Given the description of an element on the screen output the (x, y) to click on. 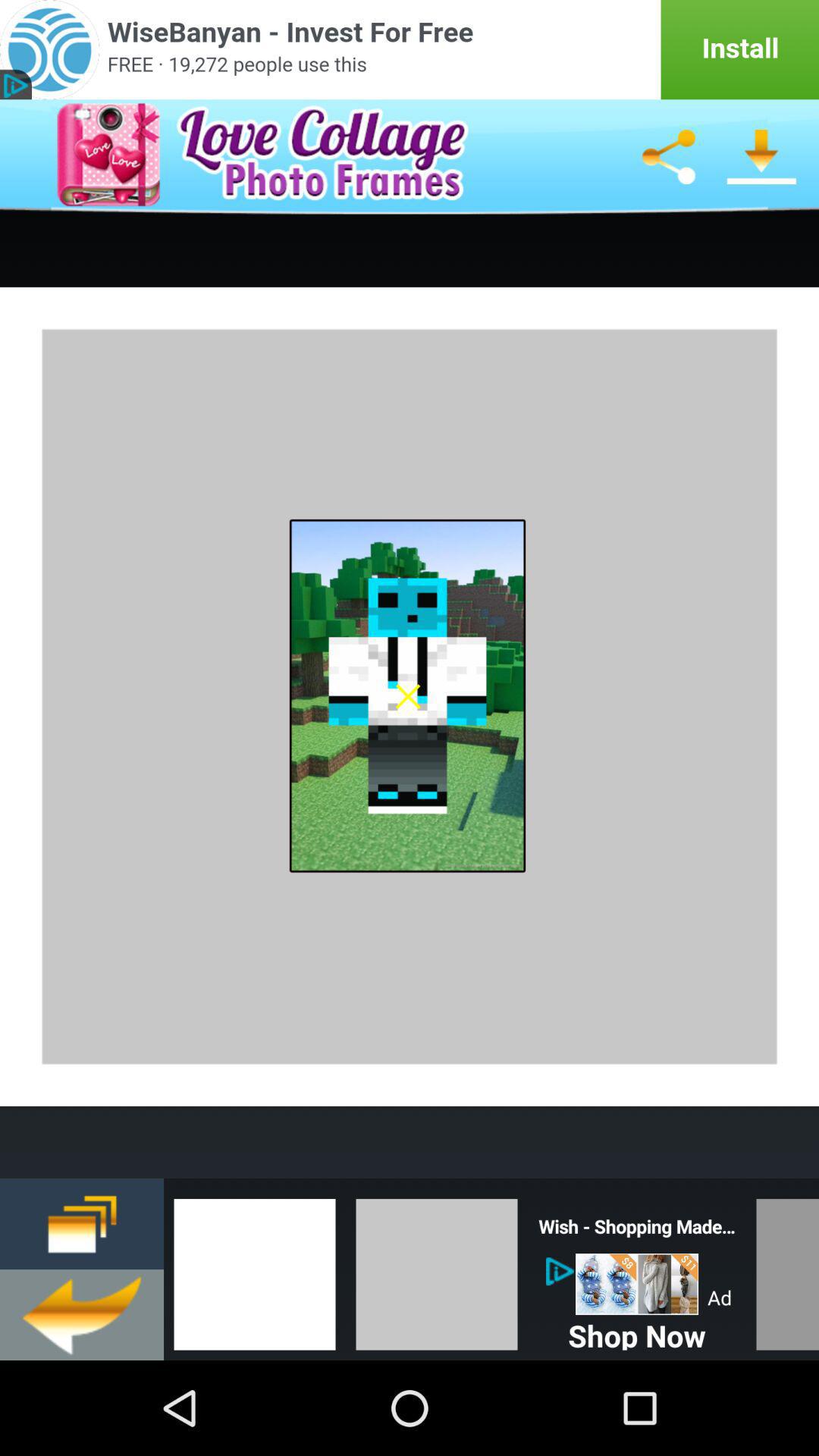
download image (762, 156)
